Given the description of an element on the screen output the (x, y) to click on. 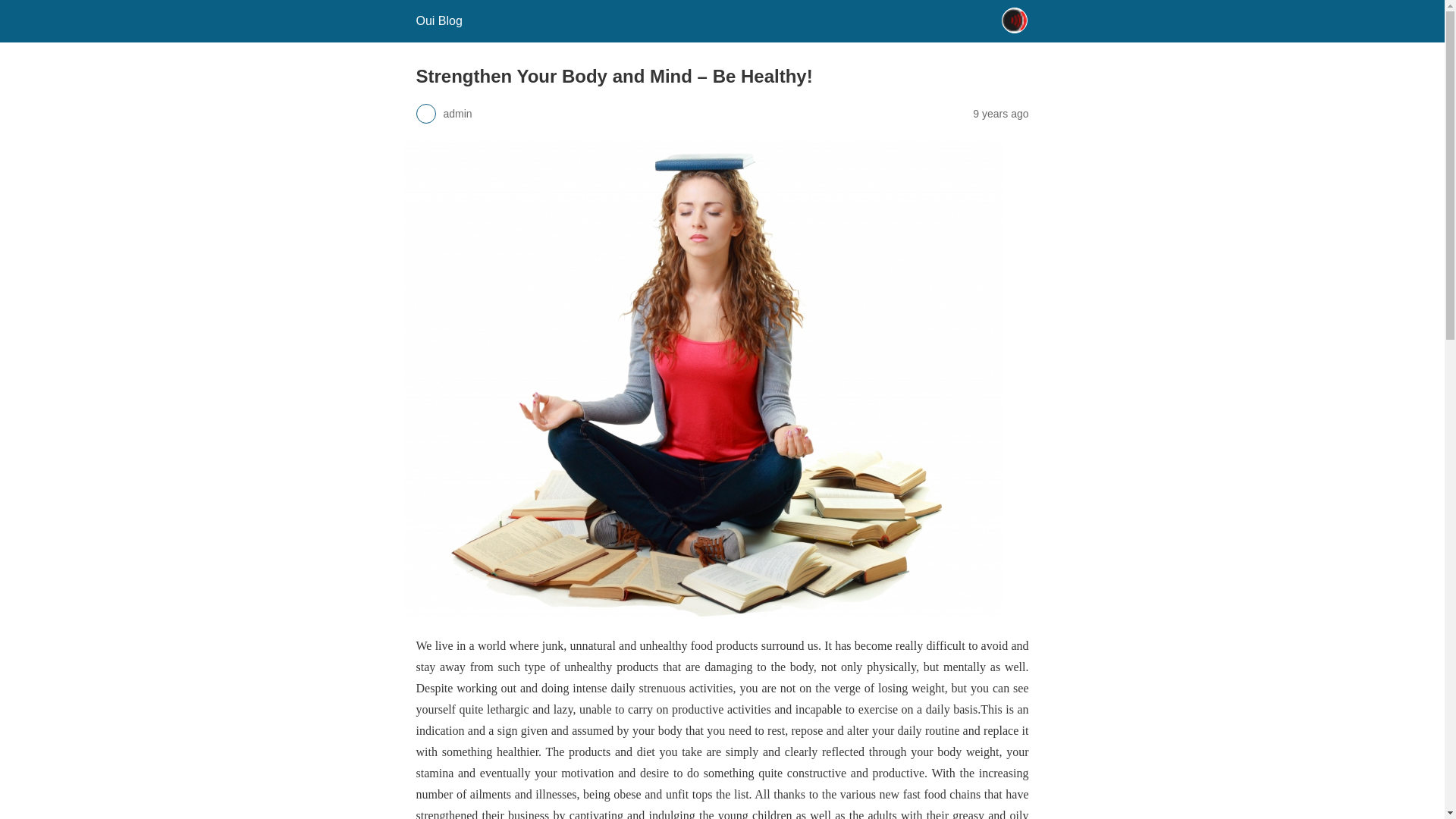
Oui Blog (437, 20)
